Given the description of an element on the screen output the (x, y) to click on. 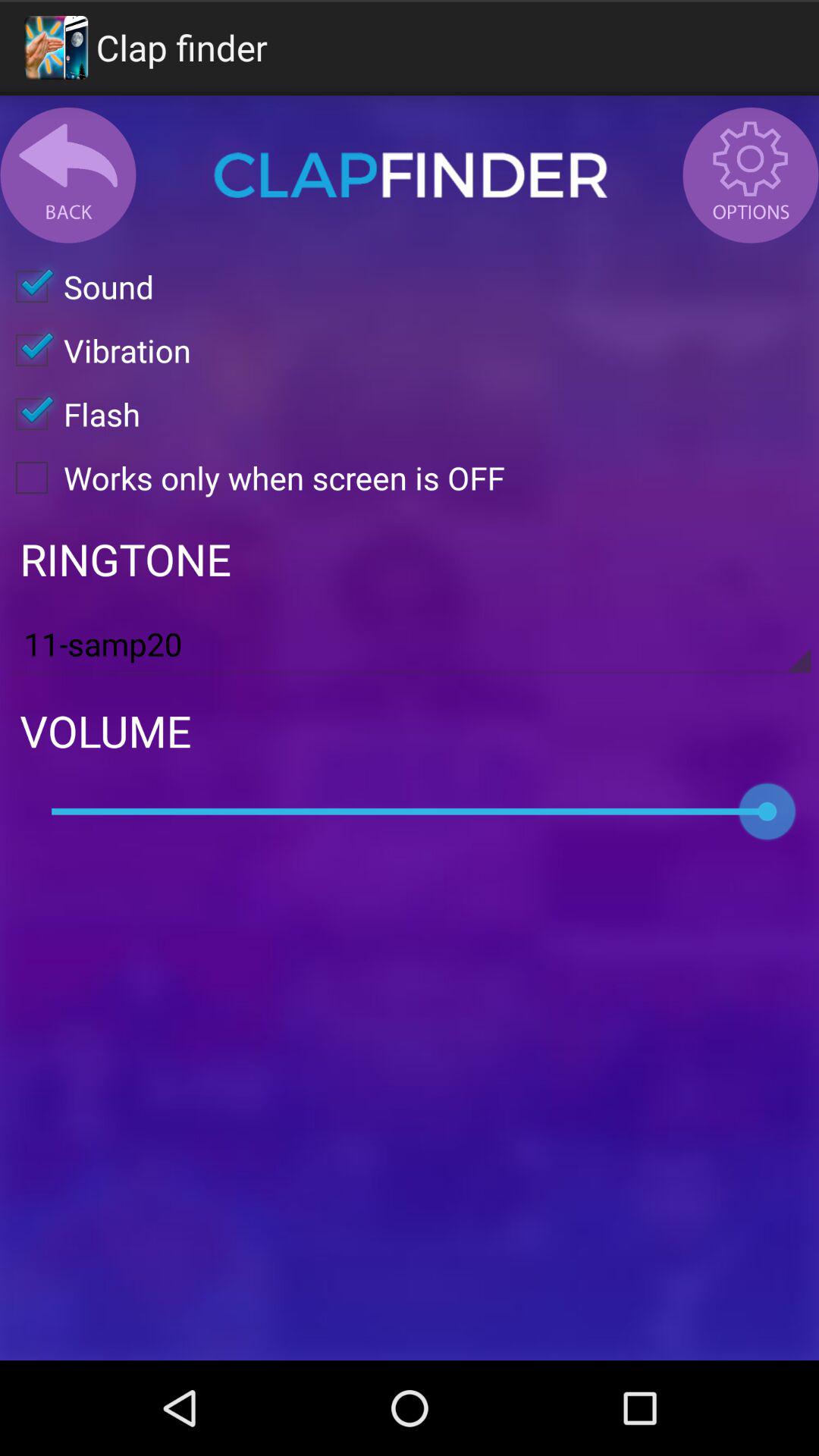
choose the item above the works only when icon (70, 413)
